Given the description of an element on the screen output the (x, y) to click on. 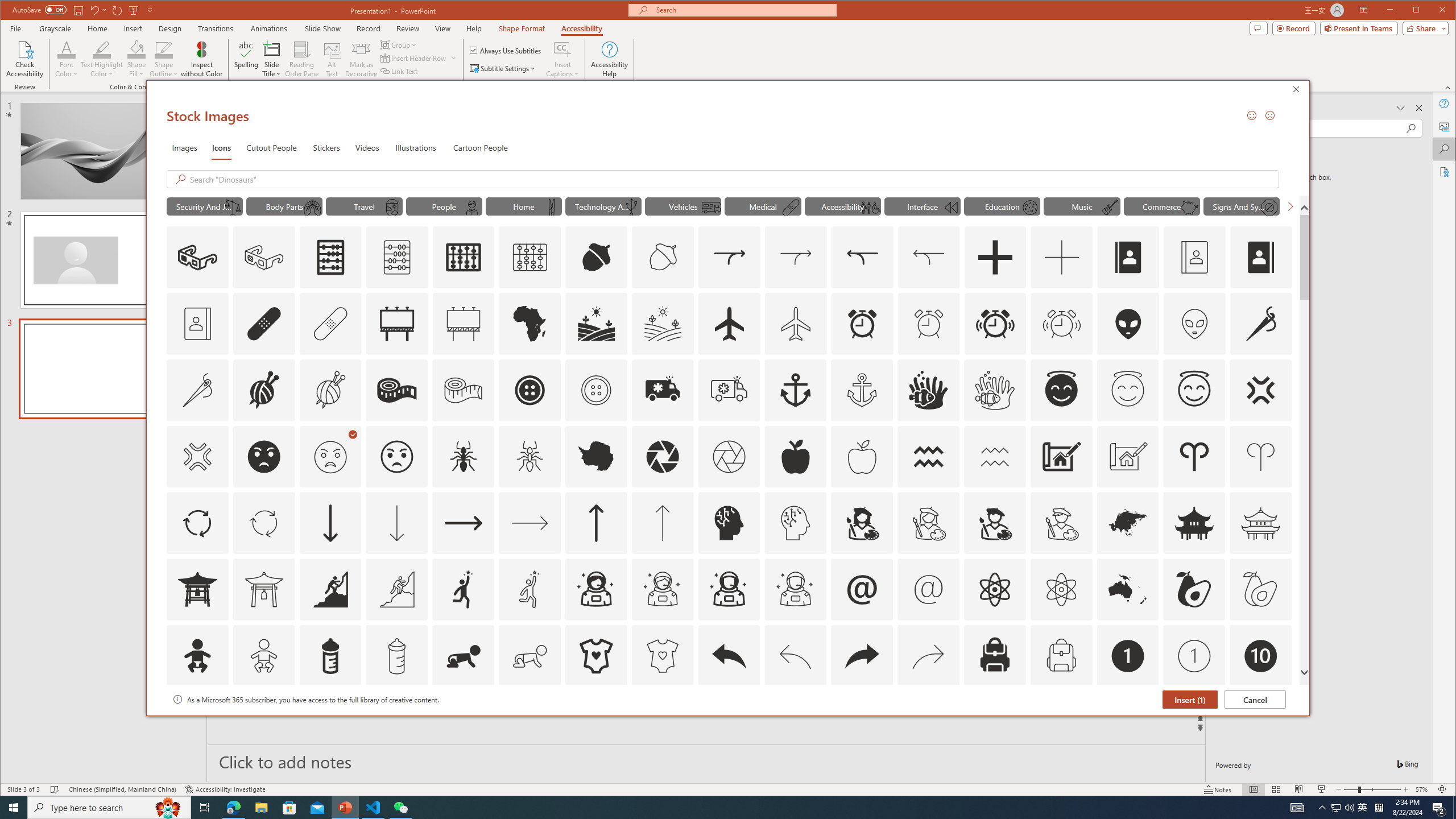
AutomationID: Icons_PlaneWindow_M (392, 207)
"Vehicles" Icons. (682, 206)
AutomationID: Icons_Badge3 (397, 721)
AutomationID: Icons_Agriculture (596, 323)
AutomationID: Icons_ArrowDown_M (397, 522)
Accessibility Help (608, 59)
AutomationID: Icons_AlterationsTailoring (1260, 323)
AutomationID: Icons_Abacus_M (397, 256)
